Given the description of an element on the screen output the (x, y) to click on. 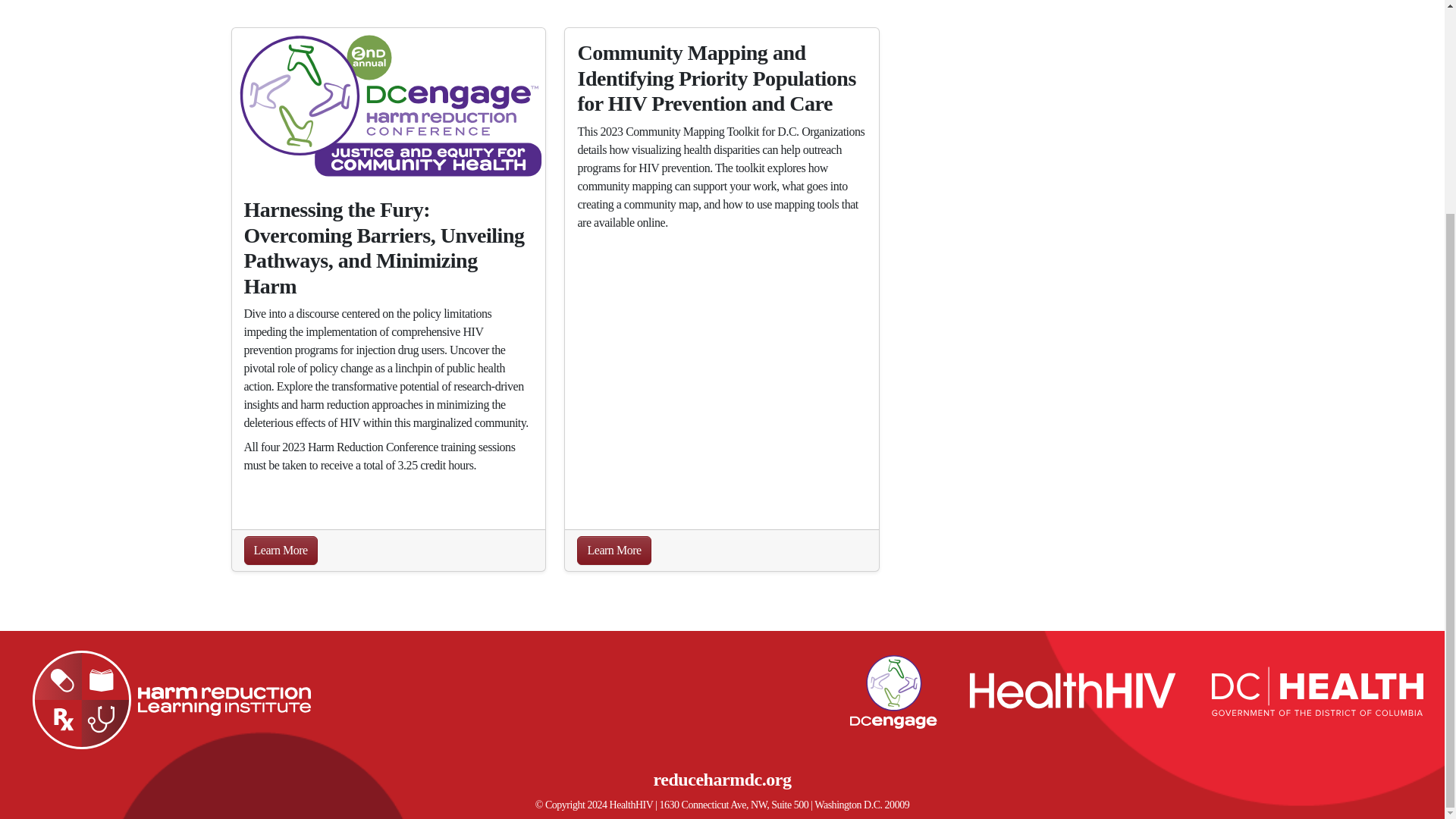
Learn More (280, 550)
Learn More (613, 550)
